Given the description of an element on the screen output the (x, y) to click on. 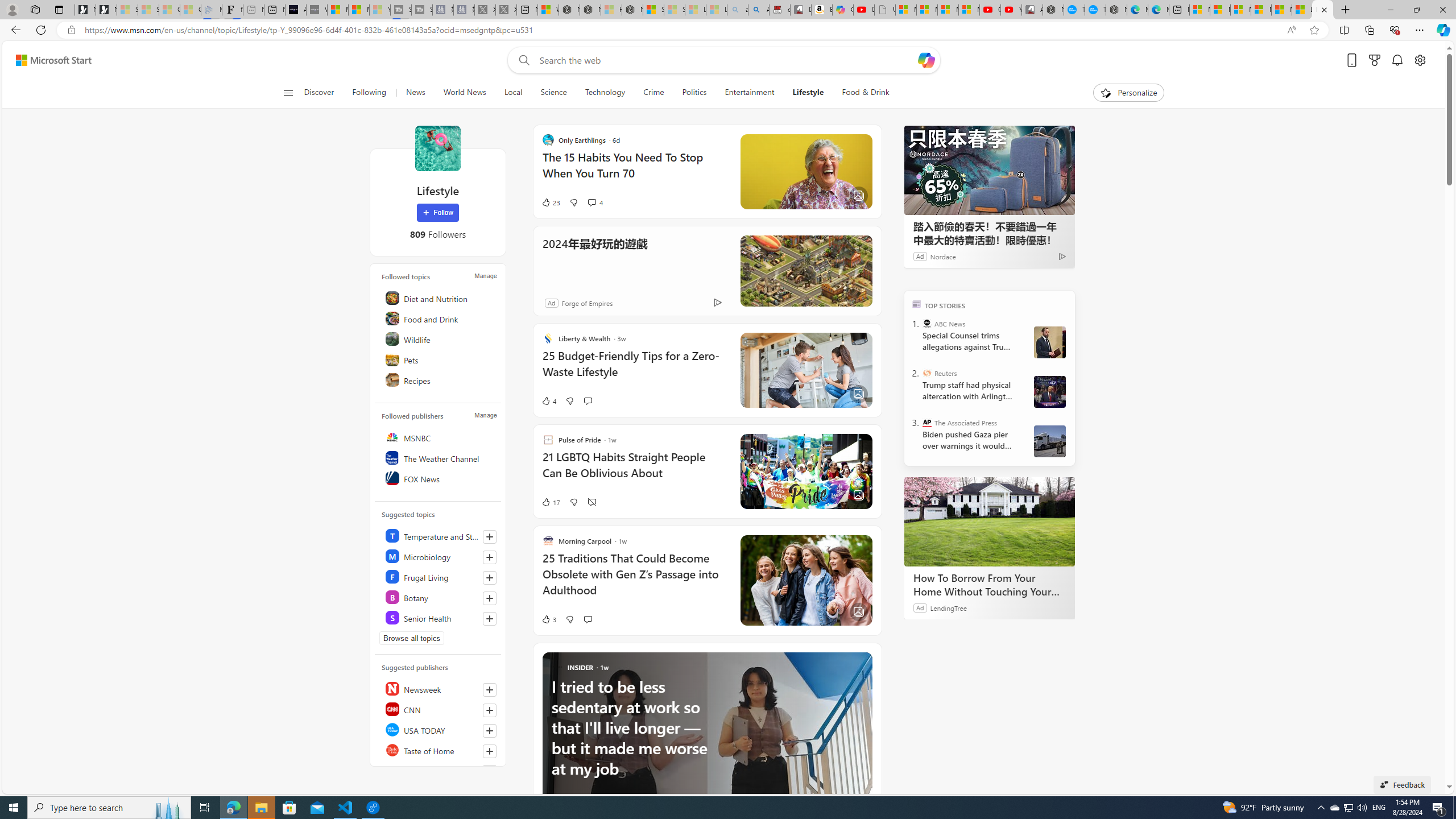
TOP (916, 302)
USA TODAY (439, 729)
Notifications (1397, 60)
Politics (694, 92)
Diet and Nutrition (439, 298)
Recipes (439, 380)
Amazon Echo Dot PNG - Search Images (759, 9)
Discover (319, 92)
Open navigation menu (287, 92)
Day 1: Arriving in Yemen (surreal to be here) - YouTube (863, 9)
Local (512, 92)
